Given the description of an element on the screen output the (x, y) to click on. 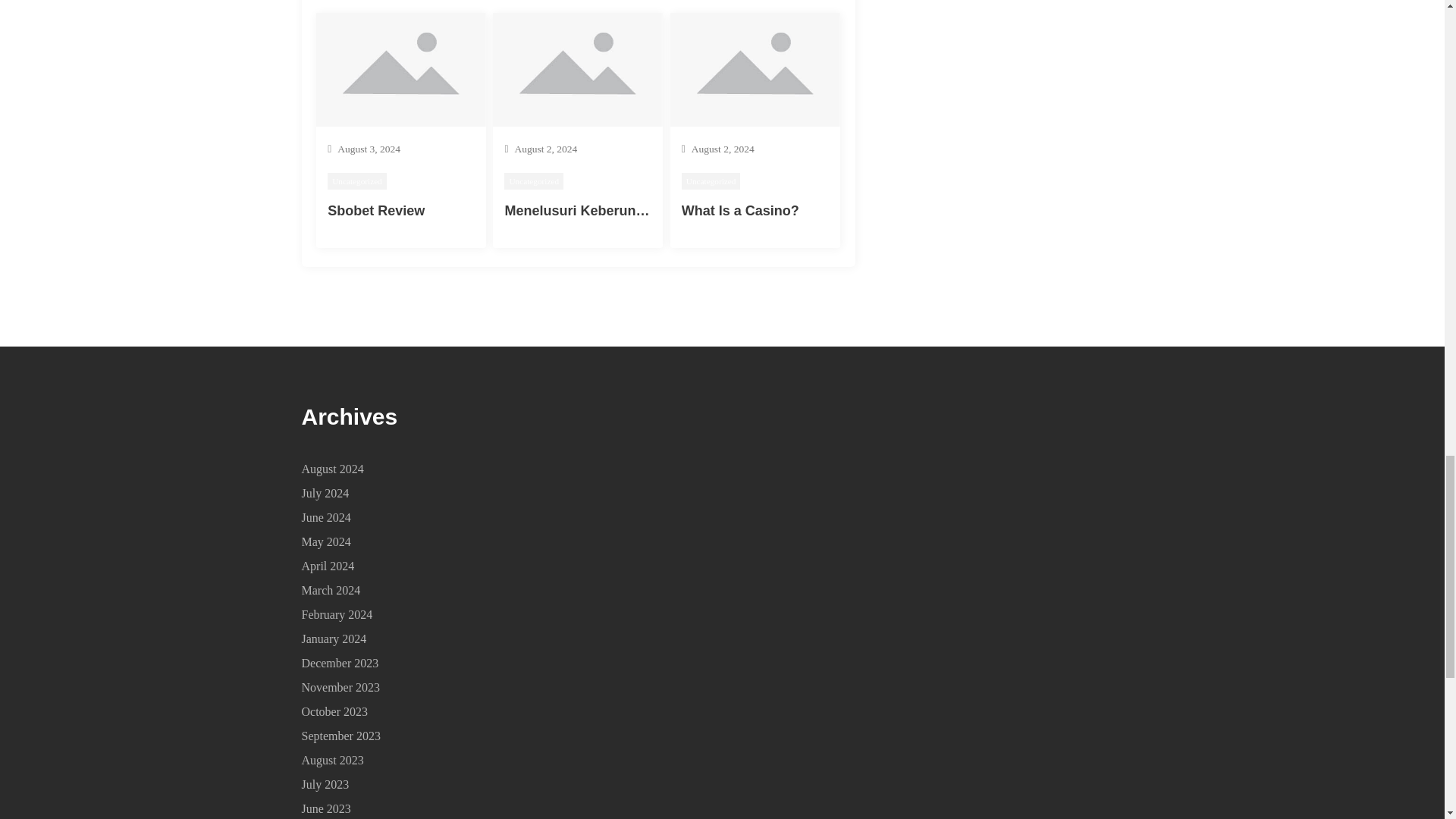
Uncategorized (533, 181)
May 2024 (325, 541)
August 2024 (332, 468)
What Is a Casino? (740, 210)
Uncategorized (357, 181)
June 2024 (325, 517)
Sbobet Review (376, 210)
July 2024 (325, 492)
Uncategorized (711, 181)
